Given the description of an element on the screen output the (x, y) to click on. 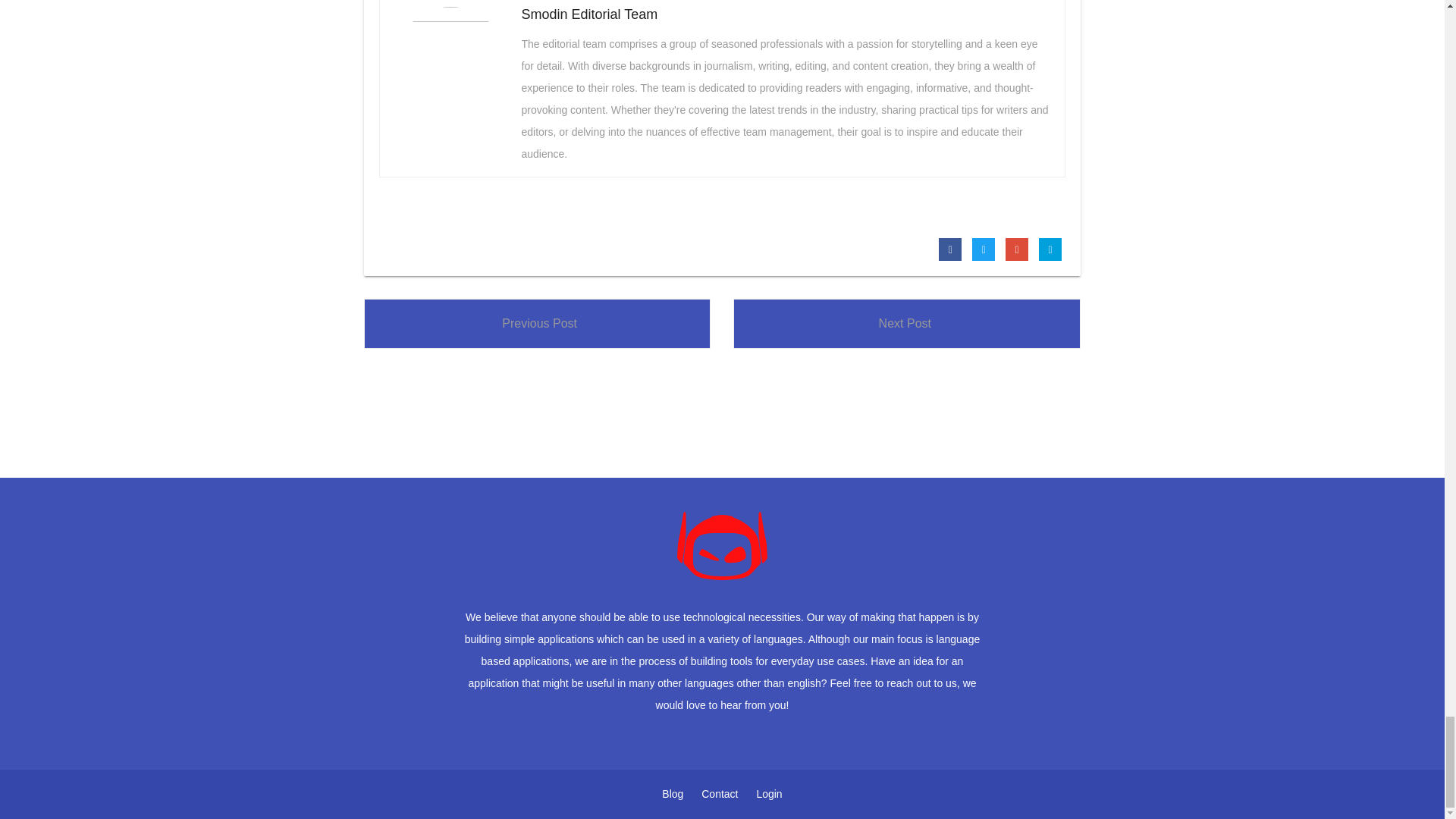
Writing Guide - SmodinBlog (722, 544)
Share on Twitter! (983, 249)
Share on Linkedin! (1050, 249)
Share on Facebook! (949, 249)
